Given the description of an element on the screen output the (x, y) to click on. 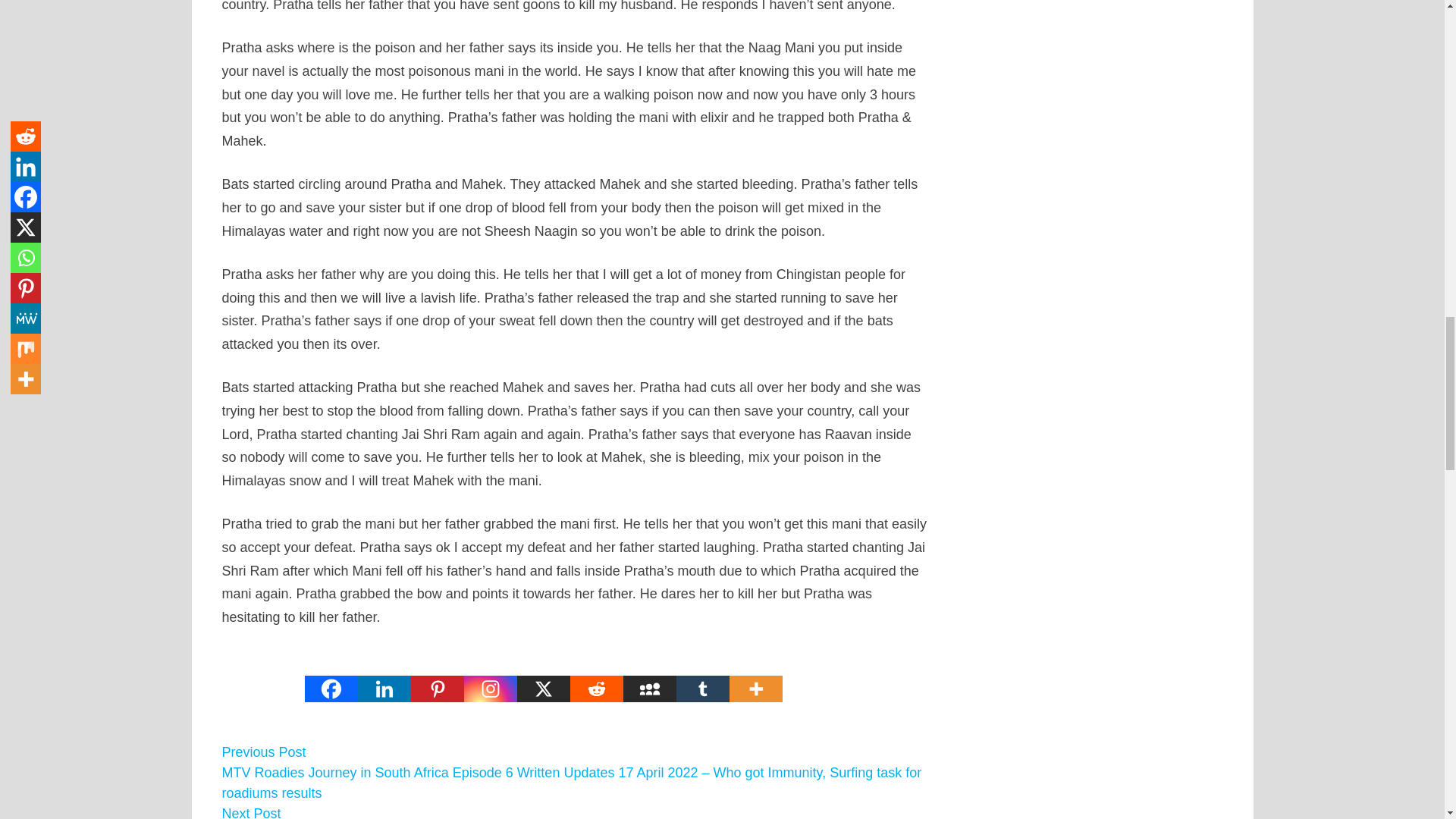
Reddit (596, 675)
Pinterest (437, 675)
Facebook (331, 675)
Linkedin (384, 675)
More (756, 675)
MySpace (650, 675)
Instagram (490, 675)
Tumblr (703, 675)
X (543, 675)
